Given the description of an element on the screen output the (x, y) to click on. 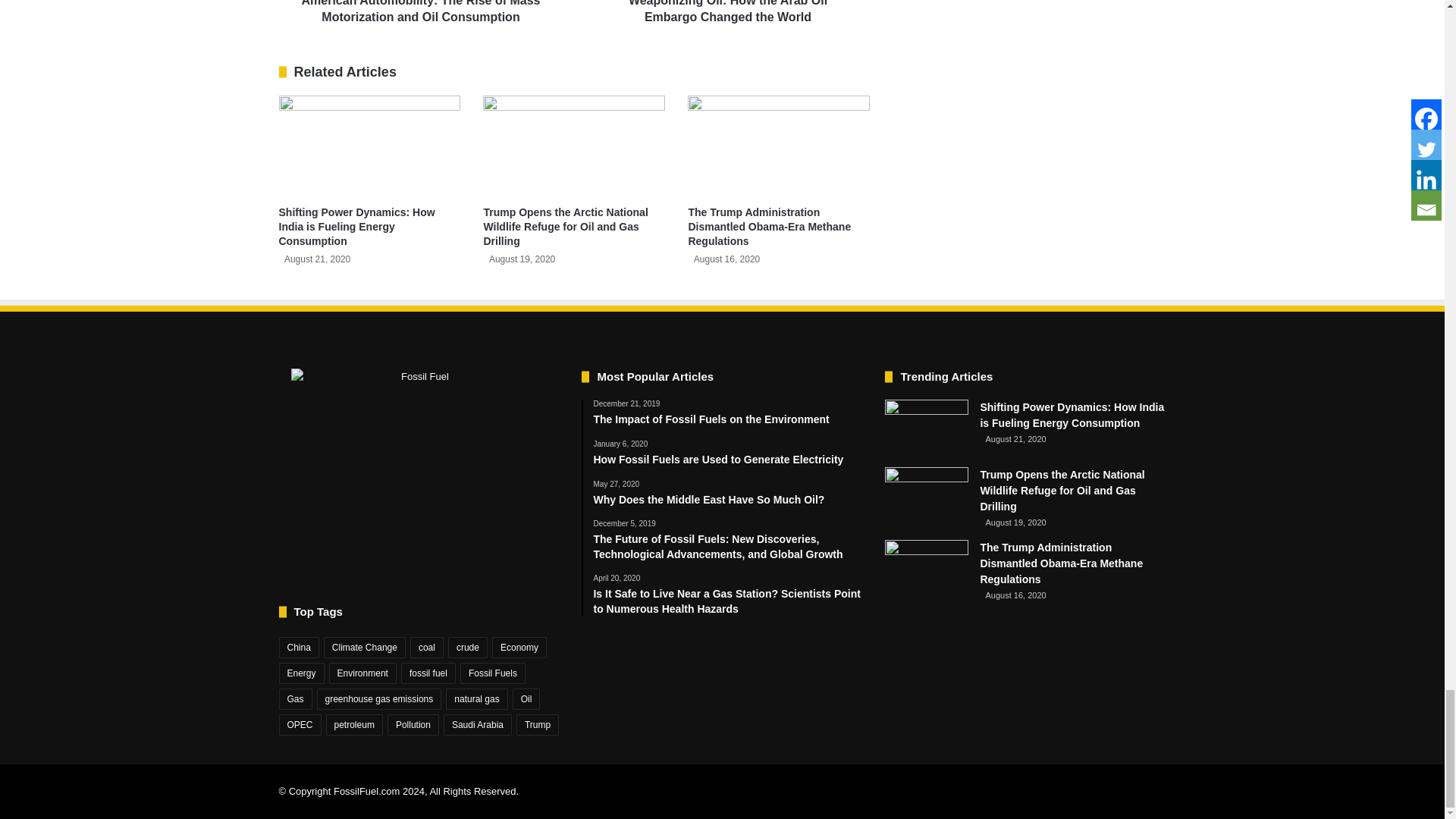
Weaponizing Oil: How the Arab Oil Embargo Changed the World (727, 12)
